Given the description of an element on the screen output the (x, y) to click on. 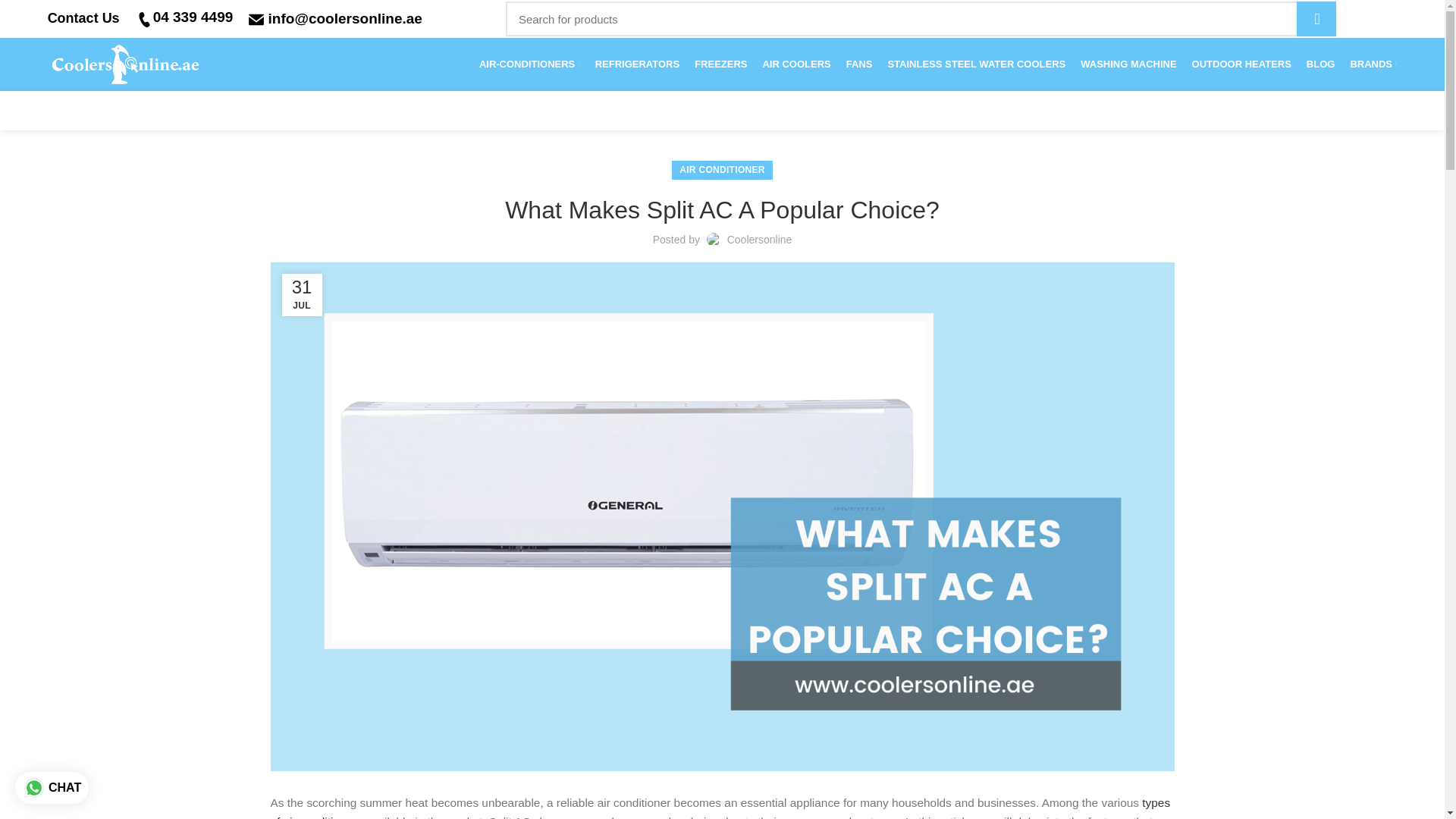
BLOG (1320, 64)
Contact Us (83, 17)
BRANDS (1373, 64)
AIR-CONDITIONERS (529, 64)
AIR COOLERS (796, 64)
STAINLESS STEEL WATER COOLERS (976, 64)
FREEZERS (720, 64)
SEARCH (1316, 18)
OUTDOOR HEATERS (1241, 64)
Search for products (920, 18)
WASHING MACHINE (1128, 64)
04 339 4499 (192, 17)
REFRIGERATORS (637, 64)
FANS (859, 64)
